Given the description of an element on the screen output the (x, y) to click on. 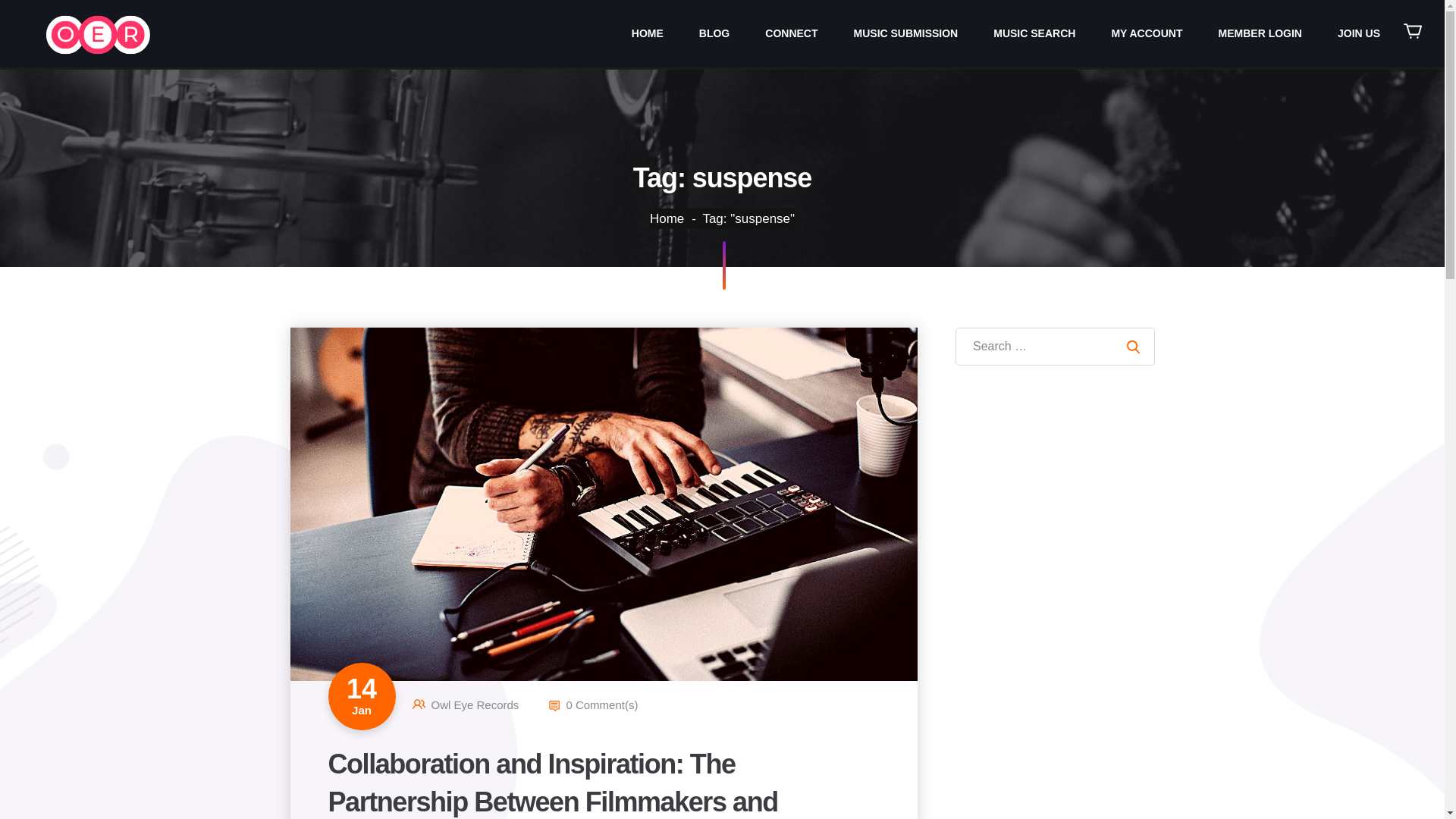
MUSIC SEARCH (1033, 33)
MUSIC SUBMISSION (905, 33)
Home (647, 33)
Home (673, 218)
JOIN US (1359, 33)
CONNECT (790, 33)
MEMBER LOGIN (1259, 33)
MY ACCOUNT (1146, 33)
Owl Eye Records (474, 704)
Contact Us (790, 33)
HOME (647, 33)
Search (1133, 346)
BLOG (713, 33)
